Given the description of an element on the screen output the (x, y) to click on. 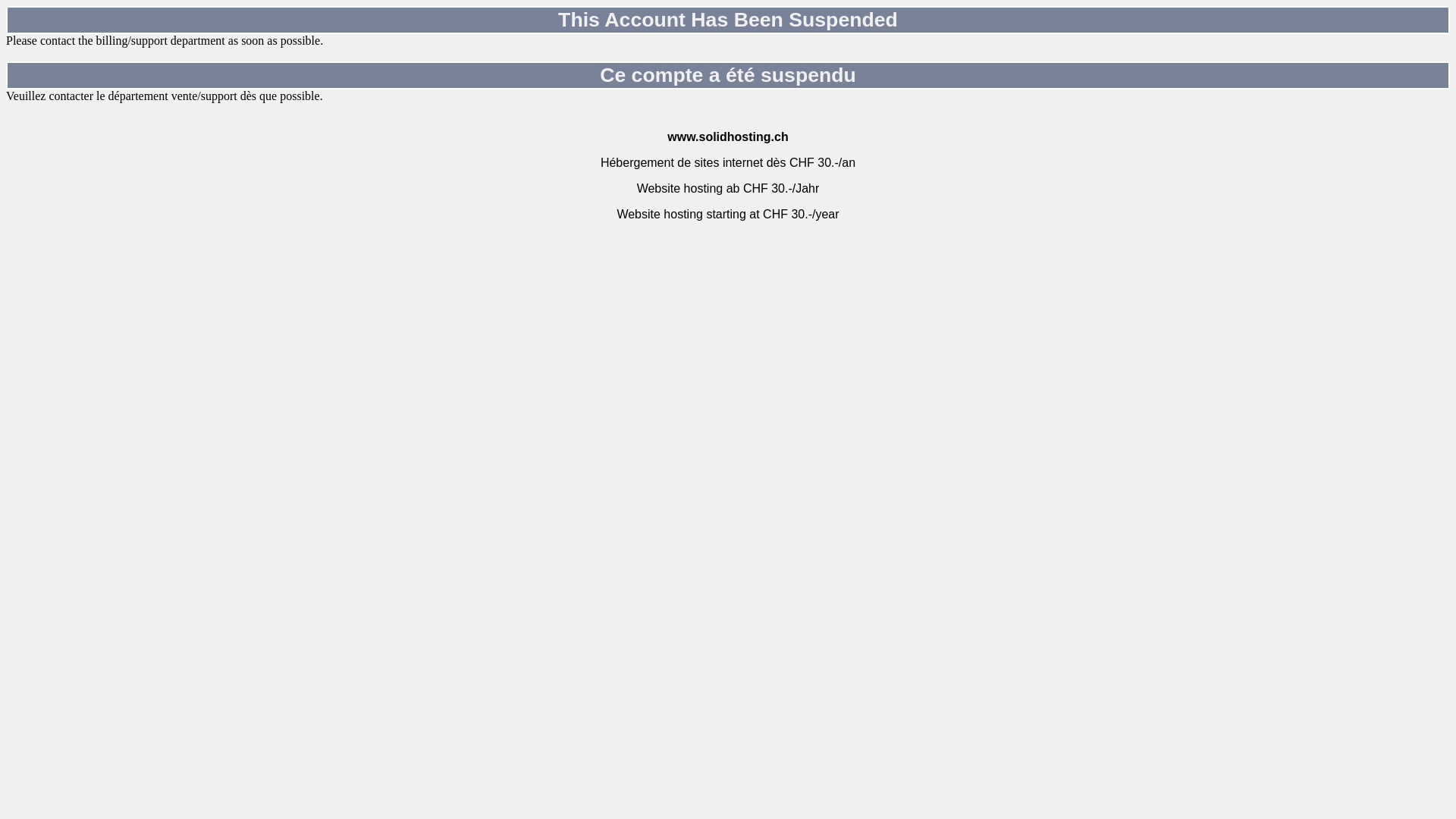
www.solidhosting.ch Element type: text (727, 136)
